Given the description of an element on the screen output the (x, y) to click on. 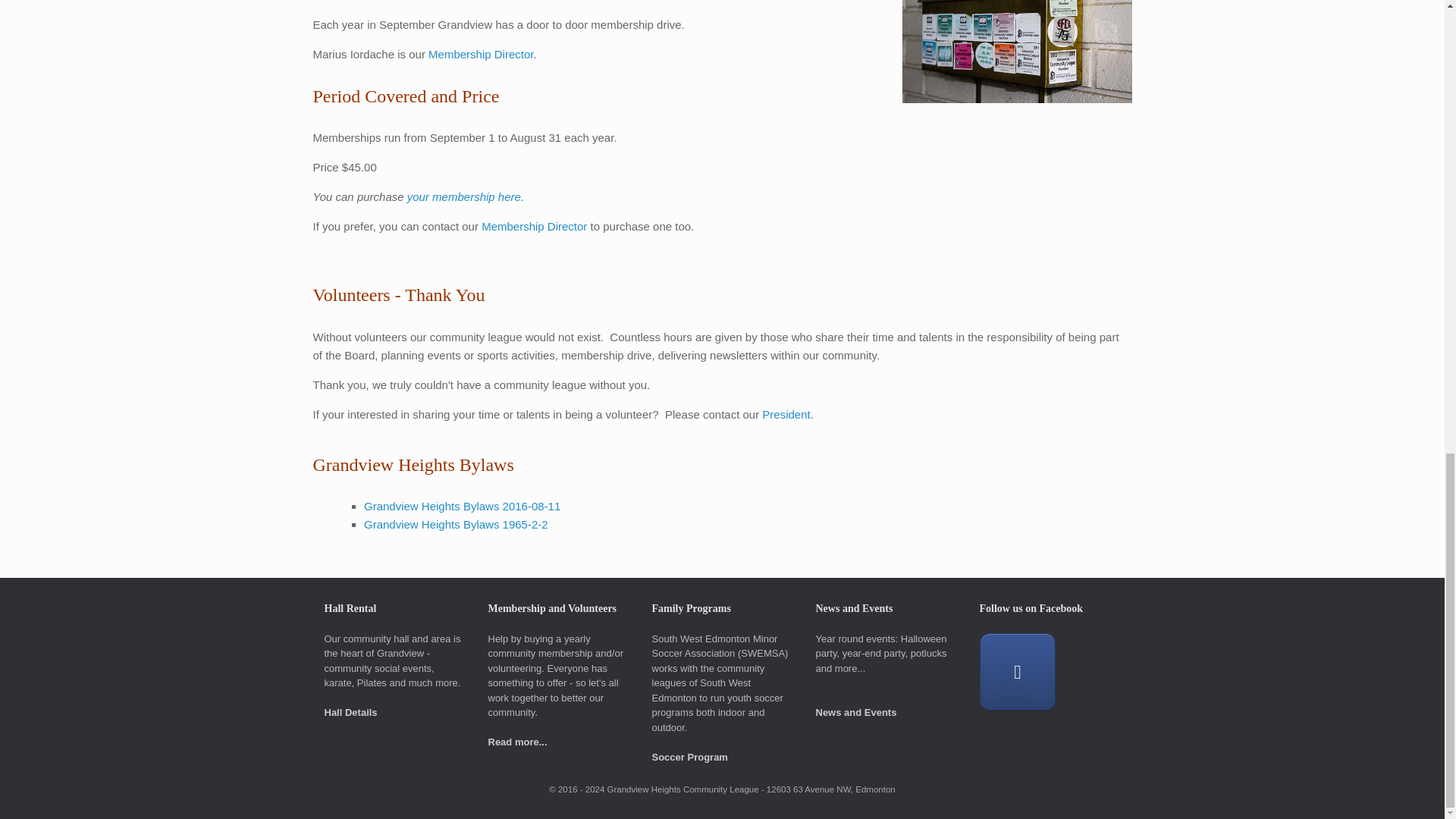
Membership Director (533, 226)
Soccer Program (690, 756)
Grandview Heights Bylaws 2016-08-11 (462, 505)
News and Events (855, 712)
President (785, 413)
Membership Director (480, 53)
Read more... (517, 741)
Grandview Community League on Facebook (1018, 671)
your membership here (464, 196)
Grandview Heights Bylaws 1965-2-2 (456, 523)
